Given the description of an element on the screen output the (x, y) to click on. 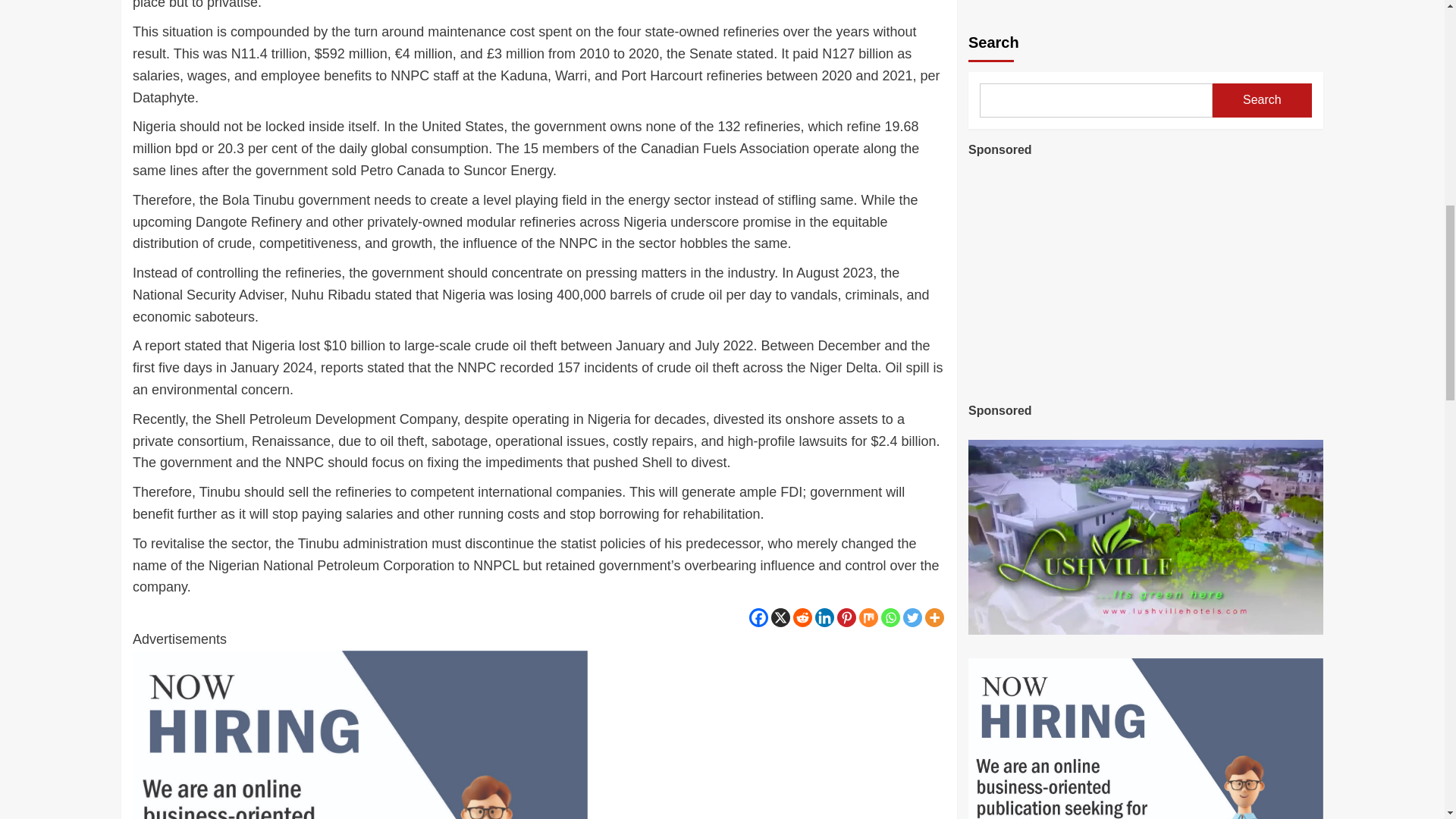
More (933, 617)
Reddit (802, 617)
Mix (868, 617)
X (780, 617)
Whatsapp (889, 617)
Twitter (911, 617)
Pinterest (846, 617)
Facebook (758, 617)
Linkedin (824, 617)
